Given the description of an element on the screen output the (x, y) to click on. 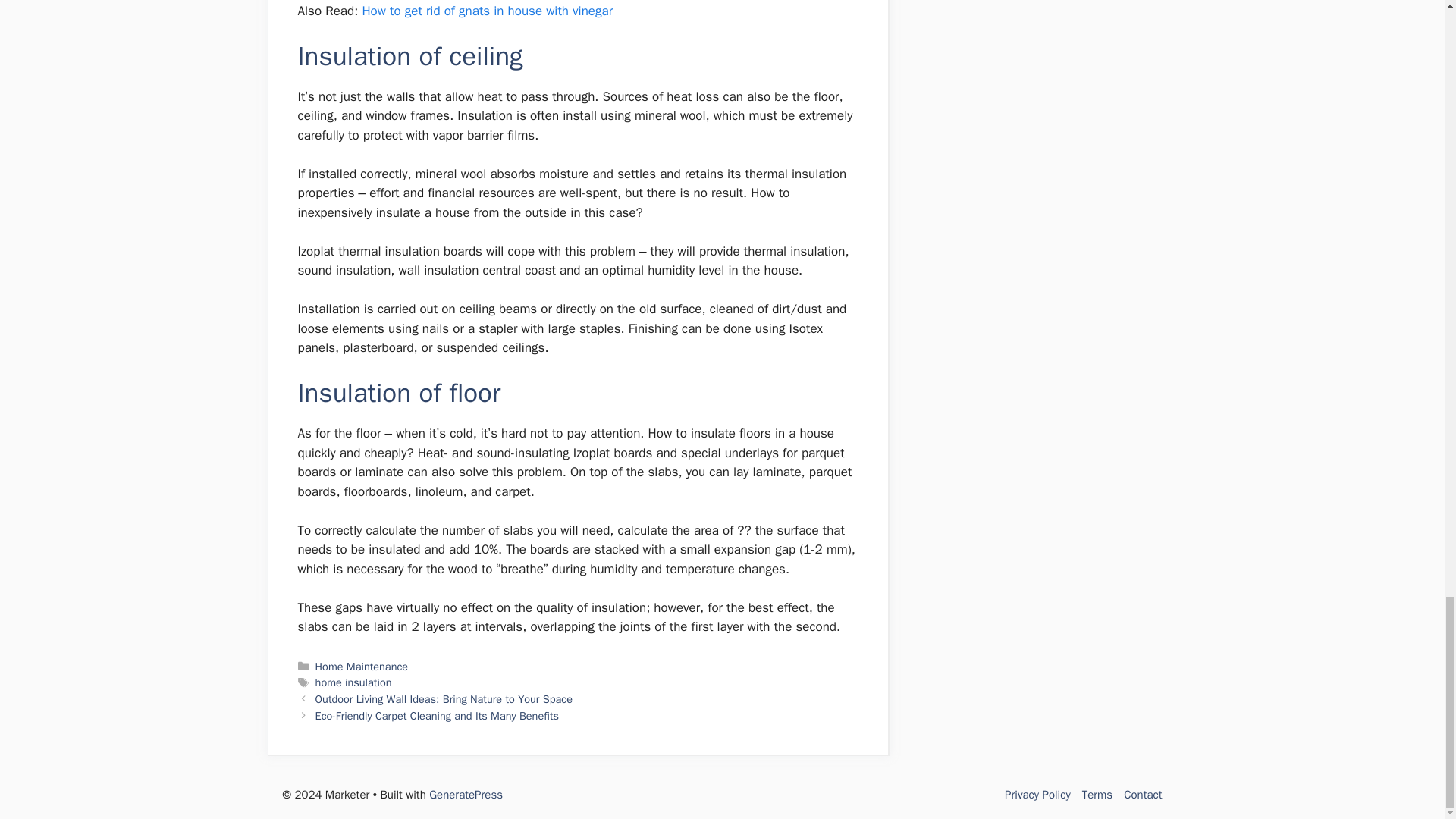
home insulation (353, 682)
GeneratePress (465, 794)
Eco-Friendly Carpet Cleaning and Its Many Benefits (437, 715)
Outdoor Living Wall Ideas: Bring Nature to Your Space (443, 698)
How to get rid of gnats in house with vinegar (486, 10)
Home Maintenance (362, 666)
